Given the description of an element on the screen output the (x, y) to click on. 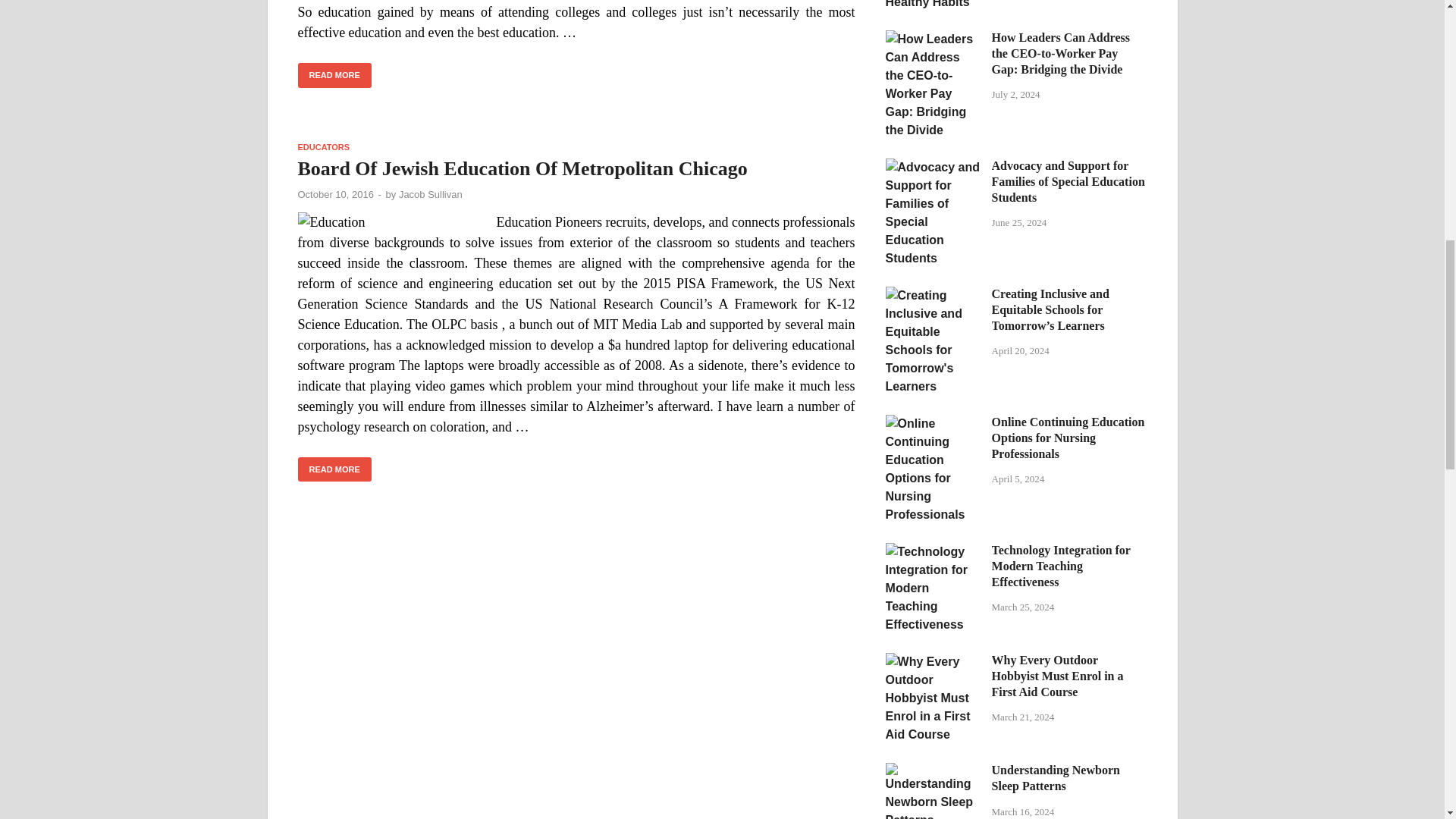
READ MORE (334, 75)
Why Every Outdoor Hobbyist Must Enrol in a First Aid Course (932, 661)
October 10, 2016 (334, 194)
Technology Integration for Modern Teaching Effectiveness (932, 551)
Board Of Jewish Education Of Metropolitan Chicago (521, 168)
EDUCATORS (323, 146)
Understanding Newborn Sleep Patterns (932, 771)
